Given the description of an element on the screen output the (x, y) to click on. 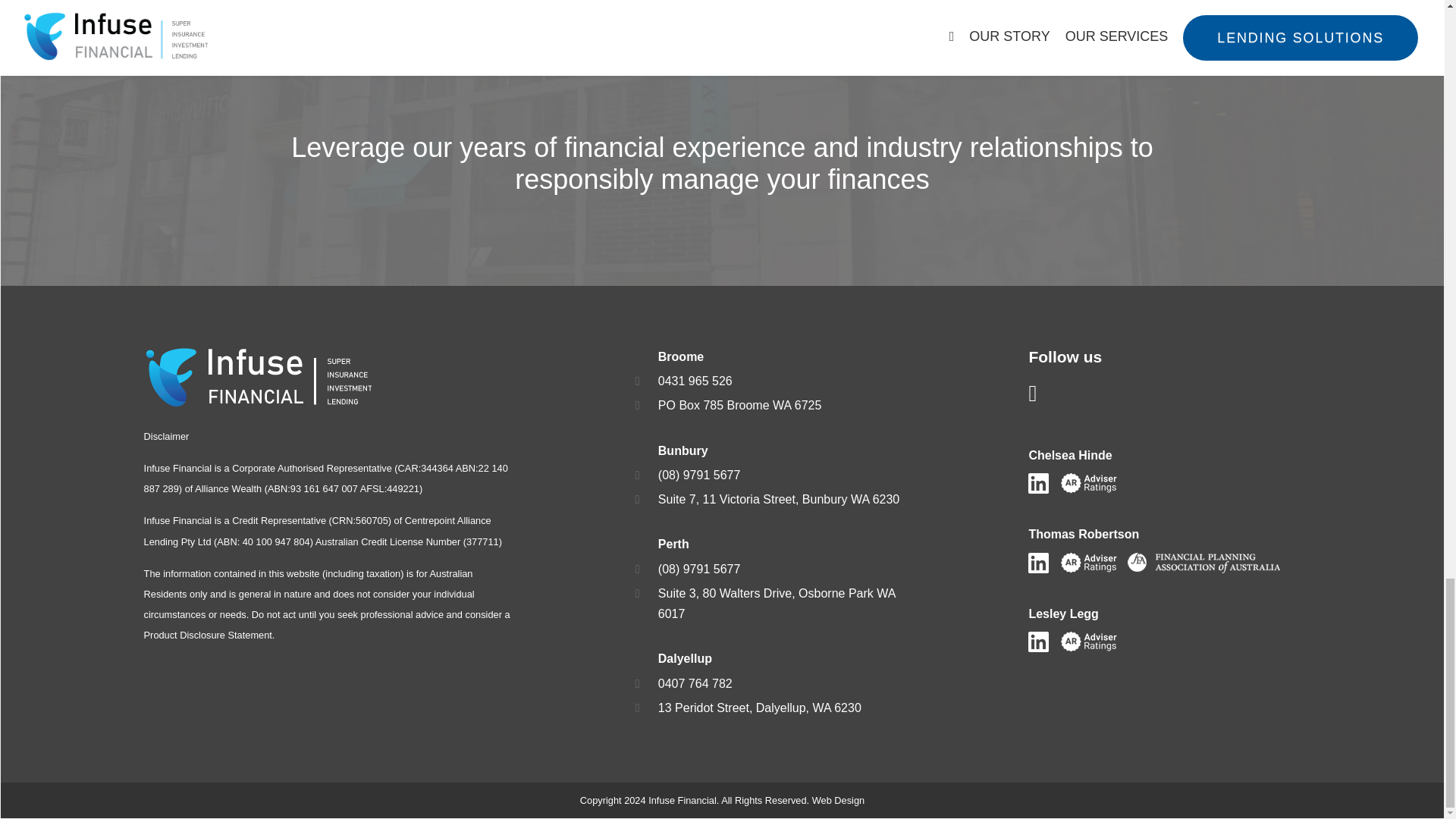
0407 764 782 (695, 683)
Disclaimer (166, 436)
Web Design (838, 799)
0431 965 526 (695, 380)
